Given the description of an element on the screen output the (x, y) to click on. 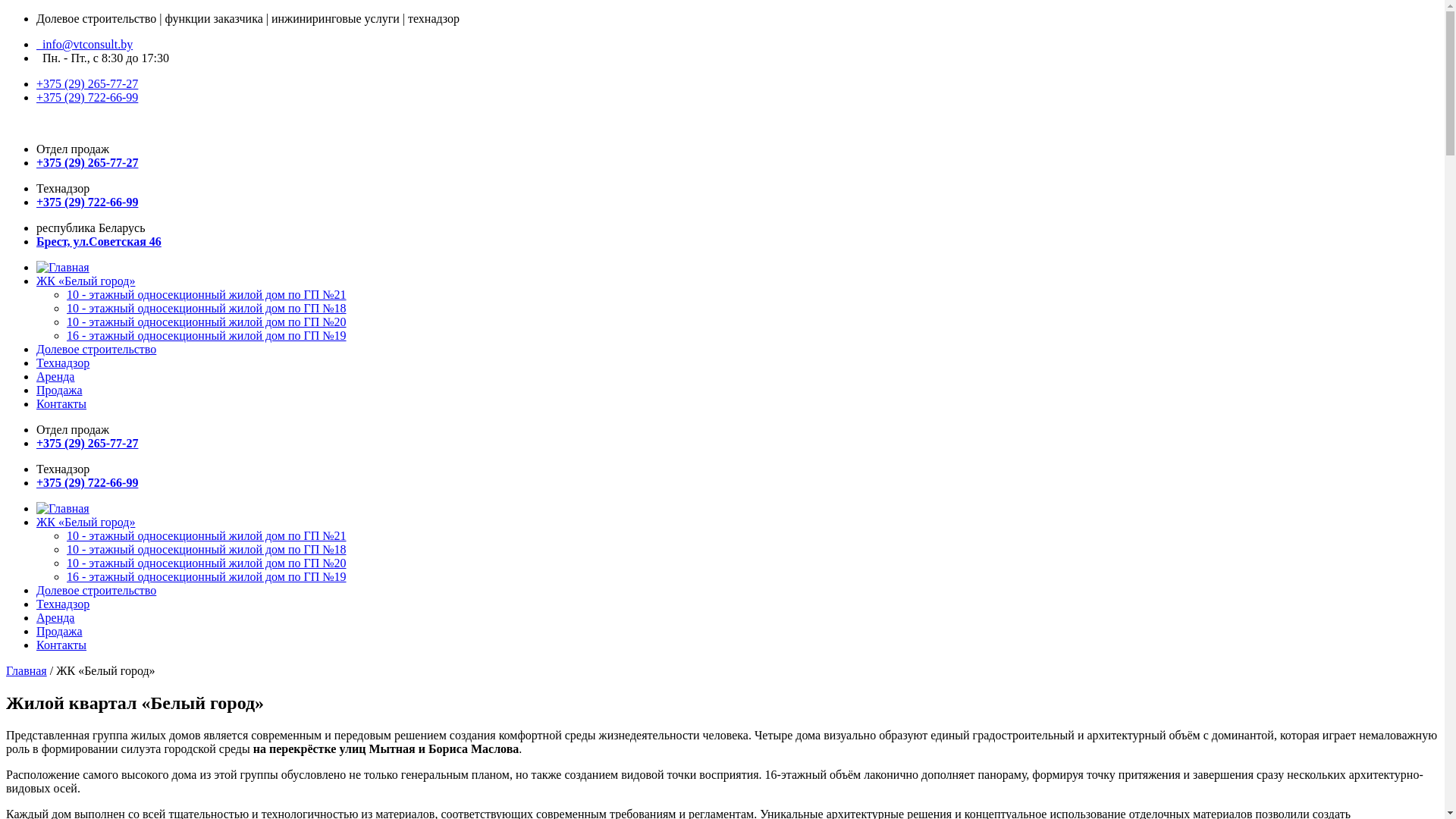
+375 (29) 722-66-99 Element type: text (87, 482)
+375 (29) 265-77-27 Element type: text (87, 442)
+375 (29) 722-66-99 Element type: text (87, 201)
+375 (29) 265-77-27 Element type: text (87, 162)
+375 (29) 265-77-27 Element type: text (87, 83)
  info@vtconsult.by Element type: text (84, 43)
+375 (29) 722-66-99 Element type: text (87, 97)
